Given the description of an element on the screen output the (x, y) to click on. 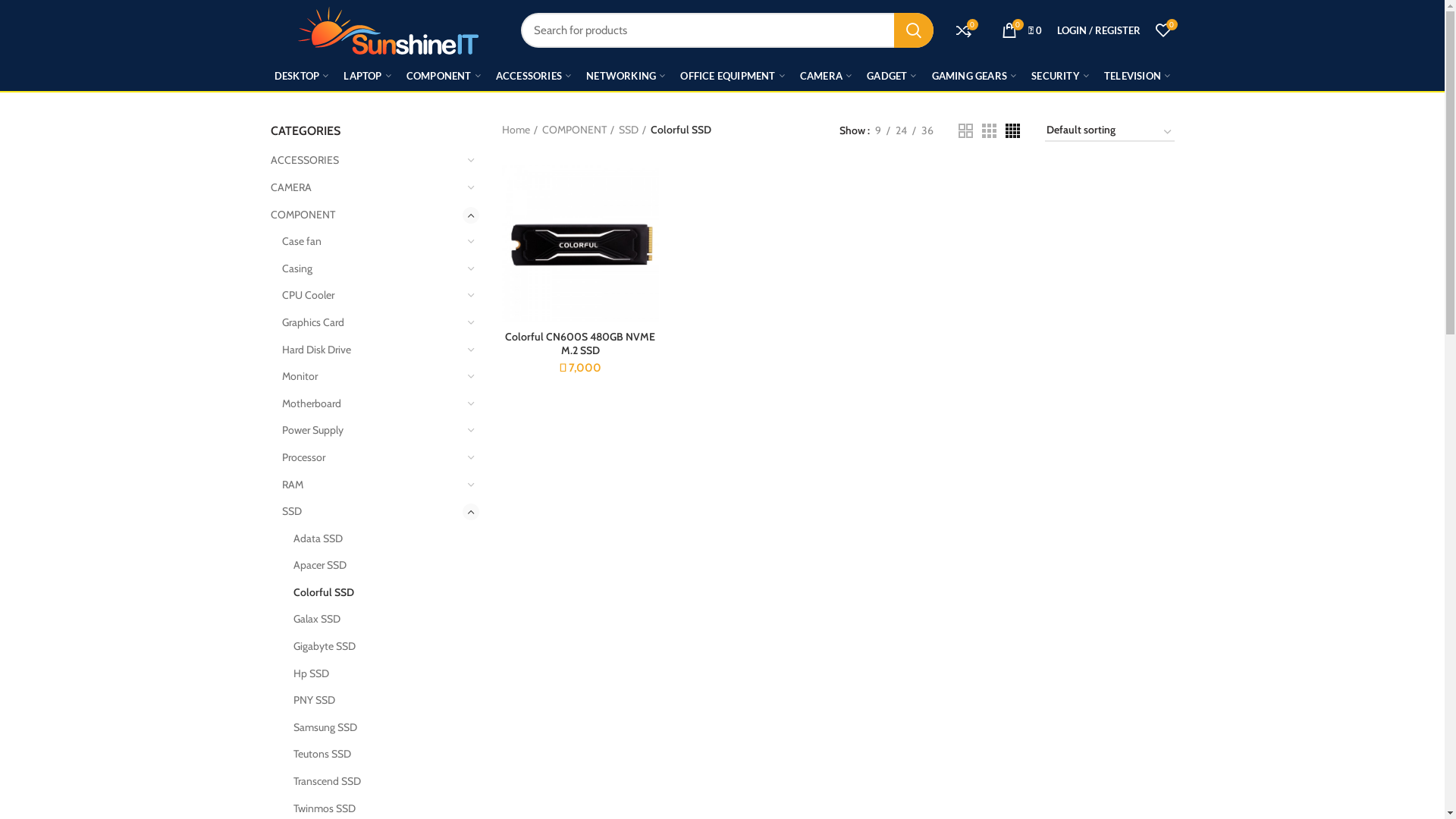
NETWORKING Element type: text (625, 75)
SECURITY Element type: text (1059, 75)
CAMERA Element type: text (825, 75)
Gigabyte SSD Element type: text (376, 646)
0 Element type: text (1163, 30)
Hp SSD Element type: text (376, 673)
RAM Element type: text (371, 484)
GADGET Element type: text (891, 75)
CPU Cooler Element type: text (371, 295)
DESKTOP Element type: text (301, 75)
Transcend SSD Element type: text (376, 781)
Monitor Element type: text (371, 376)
Case fan Element type: text (371, 241)
Apacer SSD Element type: text (376, 565)
COMPONENT Element type: text (578, 130)
SSD Element type: text (632, 130)
9 Element type: text (877, 130)
SSD Element type: text (371, 511)
0 Element type: text (962, 30)
TELEVISION Element type: text (1136, 75)
Samsung SSD Element type: text (376, 727)
COMPONENT Element type: text (443, 75)
Hard Disk Drive Element type: text (371, 350)
Adata SSD Element type: text (376, 538)
Motherboard Element type: text (371, 403)
PNY SSD Element type: text (376, 700)
LAPTOP Element type: text (366, 75)
OFFICE EQUIPMENT Element type: text (731, 75)
Processor Element type: text (371, 457)
Power Supply Element type: text (371, 430)
LOGIN / REGISTER Element type: text (1098, 30)
Teutons SSD Element type: text (376, 754)
Graphics Card Element type: text (371, 322)
24 Element type: text (901, 130)
Colorful SSD Element type: text (376, 592)
Colorful CN600S 480GB NVME M.2 SSD Element type: text (580, 343)
ACCESSORIES Element type: text (533, 75)
GAMING GEARS Element type: text (974, 75)
Home Element type: text (519, 130)
Galax SSD Element type: text (376, 619)
36 Element type: text (927, 130)
CAMERA Element type: text (364, 187)
Casing Element type: text (371, 268)
COMPONENT Element type: text (364, 215)
SEARCH Element type: text (912, 29)
ACCESSORIES Element type: text (364, 160)
